Given the description of an element on the screen output the (x, y) to click on. 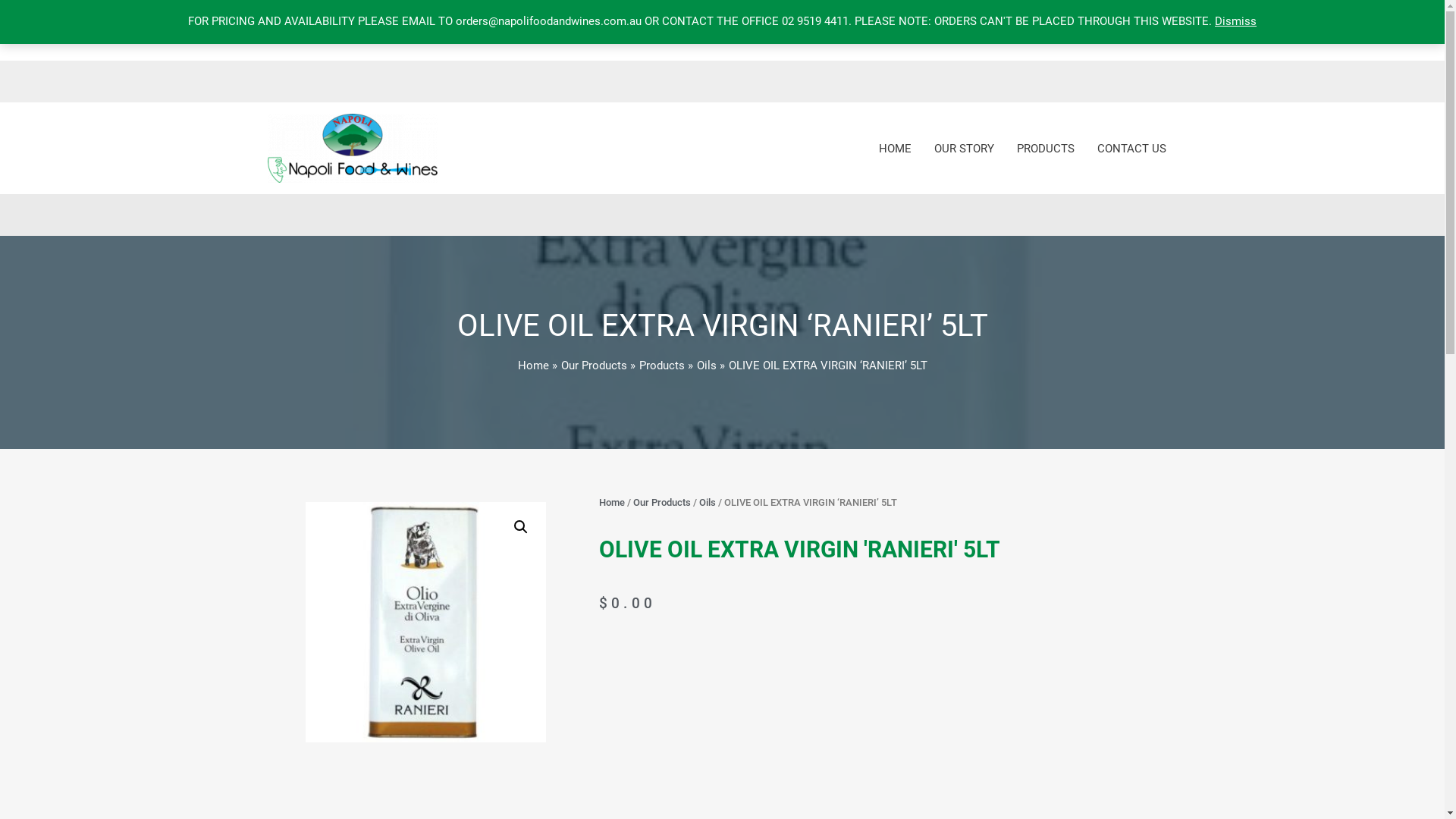
Products Element type: text (661, 365)
Oils Element type: text (707, 502)
0 Element type: text (276, 30)
evoo ranieri 5lt Element type: hover (424, 622)
PRODUCTS Element type: text (1045, 148)
CONTACT US Element type: text (1131, 148)
Home Element type: text (611, 502)
OUR STORY Element type: text (963, 148)
Our Products Element type: text (661, 502)
Home Element type: text (532, 365)
HOME Element type: text (894, 148)
Our Products Element type: text (594, 365)
Dismiss Element type: text (1235, 21)
Oils Element type: text (705, 365)
